Given the description of an element on the screen output the (x, y) to click on. 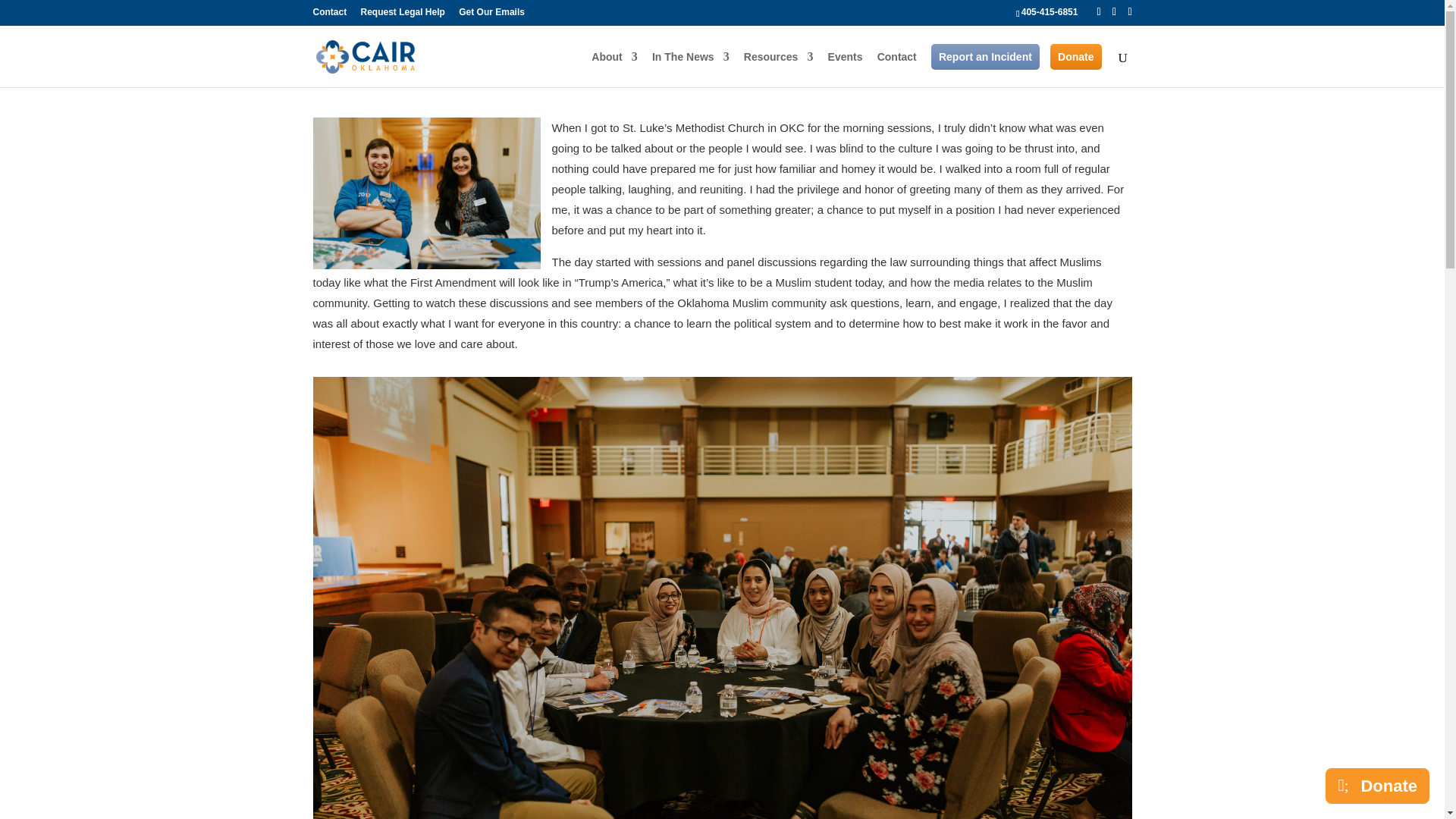
Resources (778, 68)
Get Our Emails (491, 15)
About (614, 68)
Events (845, 68)
Contact (897, 68)
Contact (329, 15)
In The News (690, 68)
Donate (1074, 56)
Request Legal Help (403, 15)
Report an Incident (985, 56)
